Given the description of an element on the screen output the (x, y) to click on. 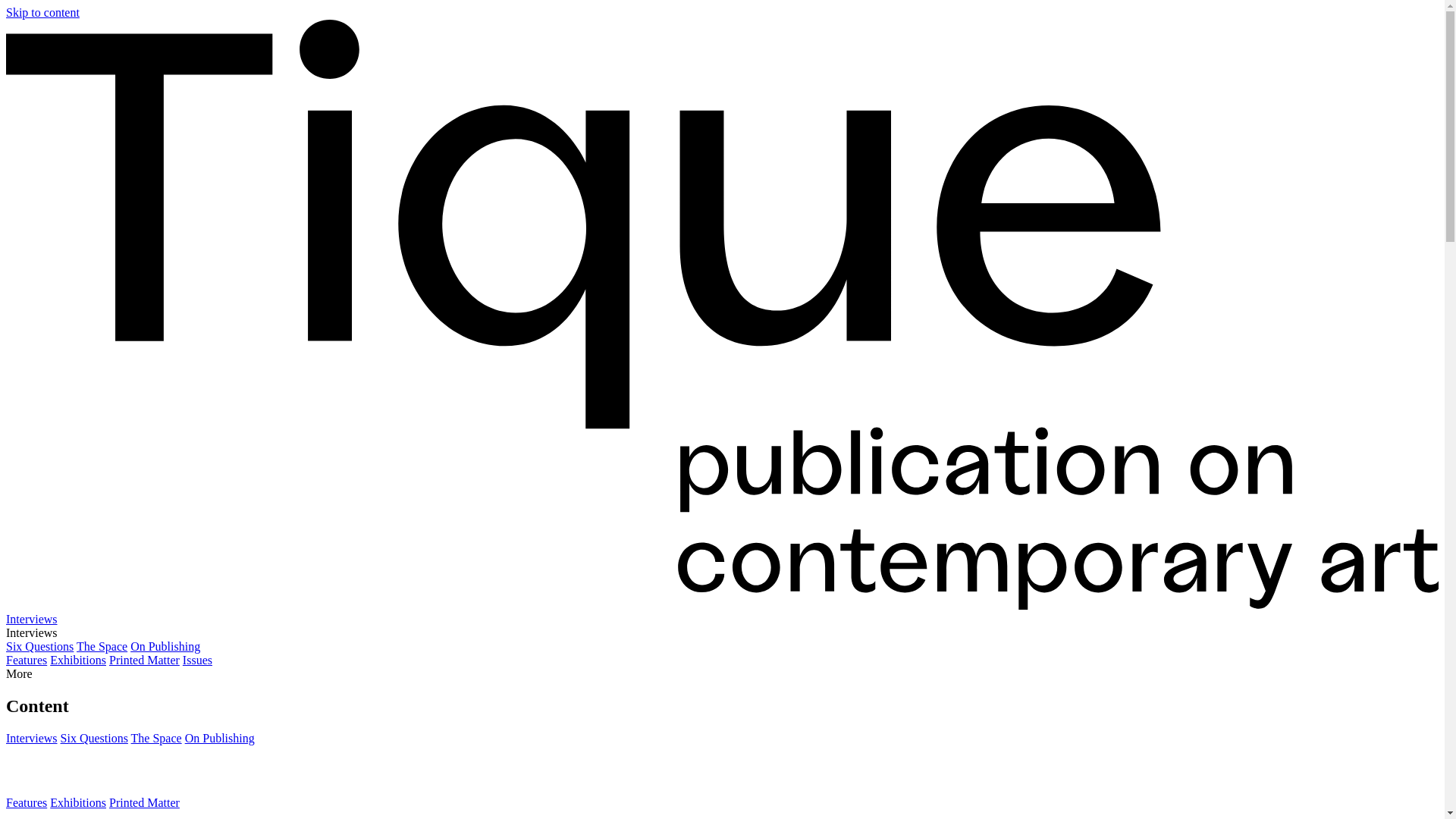
Printed Matter (144, 659)
Exhibitions (77, 659)
Interviews (31, 618)
On Publishing (165, 645)
Printed Matter (144, 802)
Exhibitions (77, 802)
Six Questions (39, 645)
The Space (102, 645)
Interviews (31, 738)
Features (25, 802)
Skip to content (42, 11)
Issues (197, 659)
Features (25, 659)
The Space (156, 738)
Six Questions (94, 738)
